Given the description of an element on the screen output the (x, y) to click on. 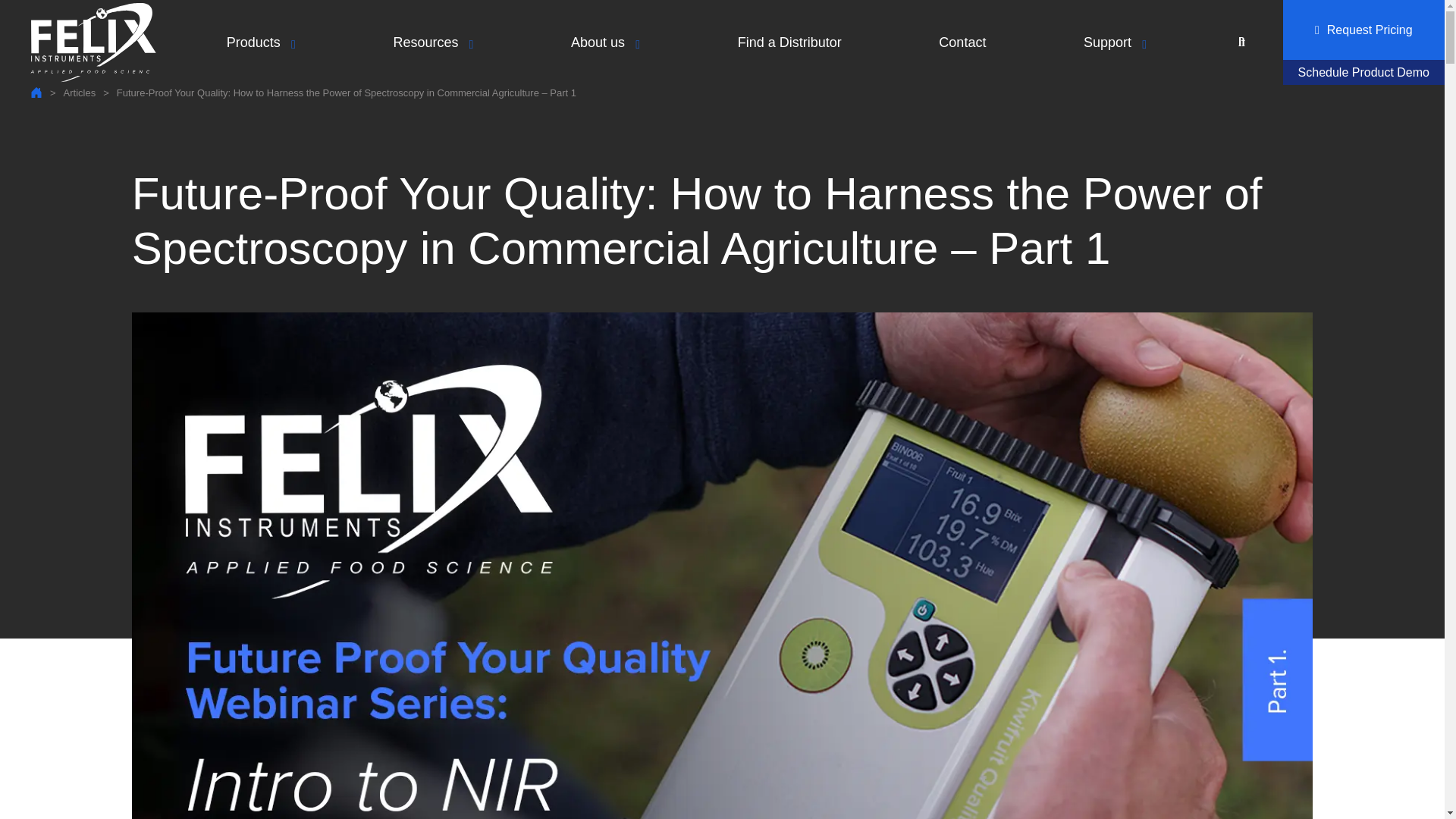
About us (605, 42)
Products (261, 42)
Articles (80, 91)
Resources (433, 42)
Find a Distributor (789, 42)
